Given the description of an element on the screen output the (x, y) to click on. 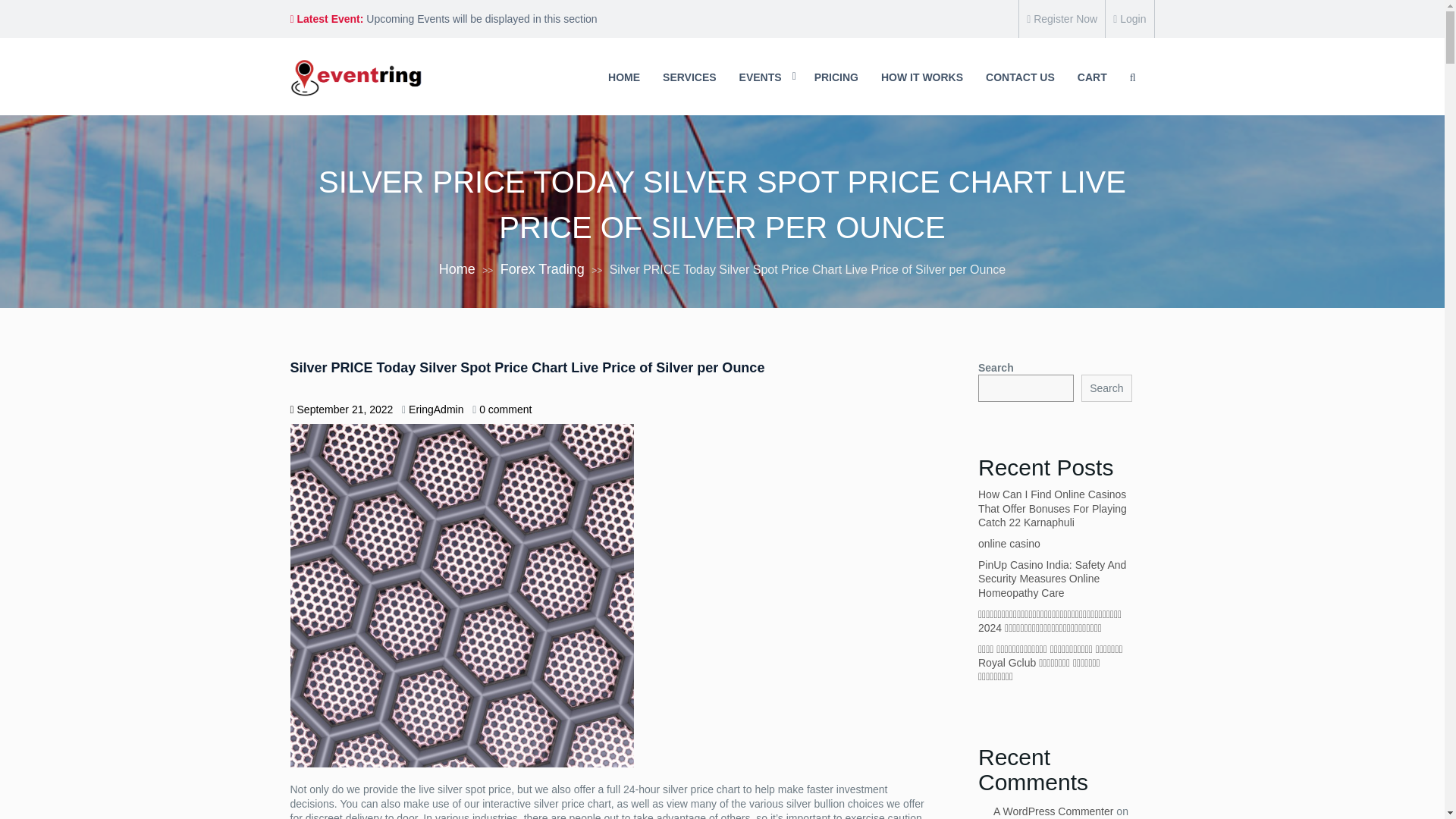
Search (1106, 388)
HOME (623, 77)
online casino (1009, 543)
Register Now (1061, 19)
CONTACT US (1019, 77)
HOW IT WORKS (921, 77)
EringAdmin (436, 409)
SERVICES (689, 77)
A WordPress Commenter (1052, 811)
EVENTS (765, 77)
0 comment (505, 409)
Login (1129, 19)
CART (1091, 77)
Forex Trading (542, 268)
